Given the description of an element on the screen output the (x, y) to click on. 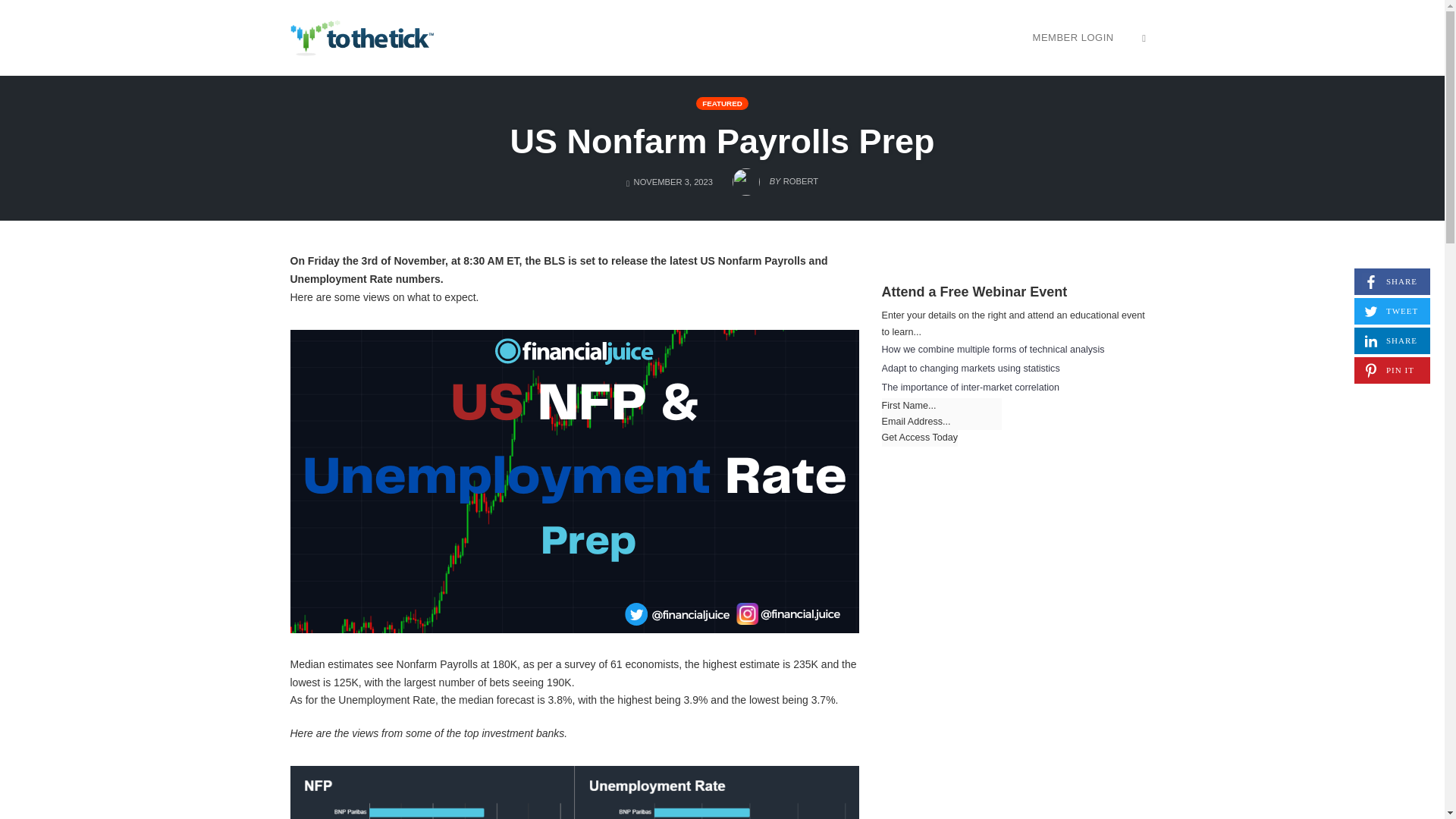
Get Access Today (919, 437)
OPEN SEARCH FORM (1144, 37)
MEMBER LOGIN (1073, 37)
BY ROBERT (775, 176)
Email Address... (940, 421)
US Nonfarm Payrolls Prep (1391, 281)
Get Access Today (1391, 340)
First Name... (721, 141)
FEATURED (919, 437)
